Given the description of an element on the screen output the (x, y) to click on. 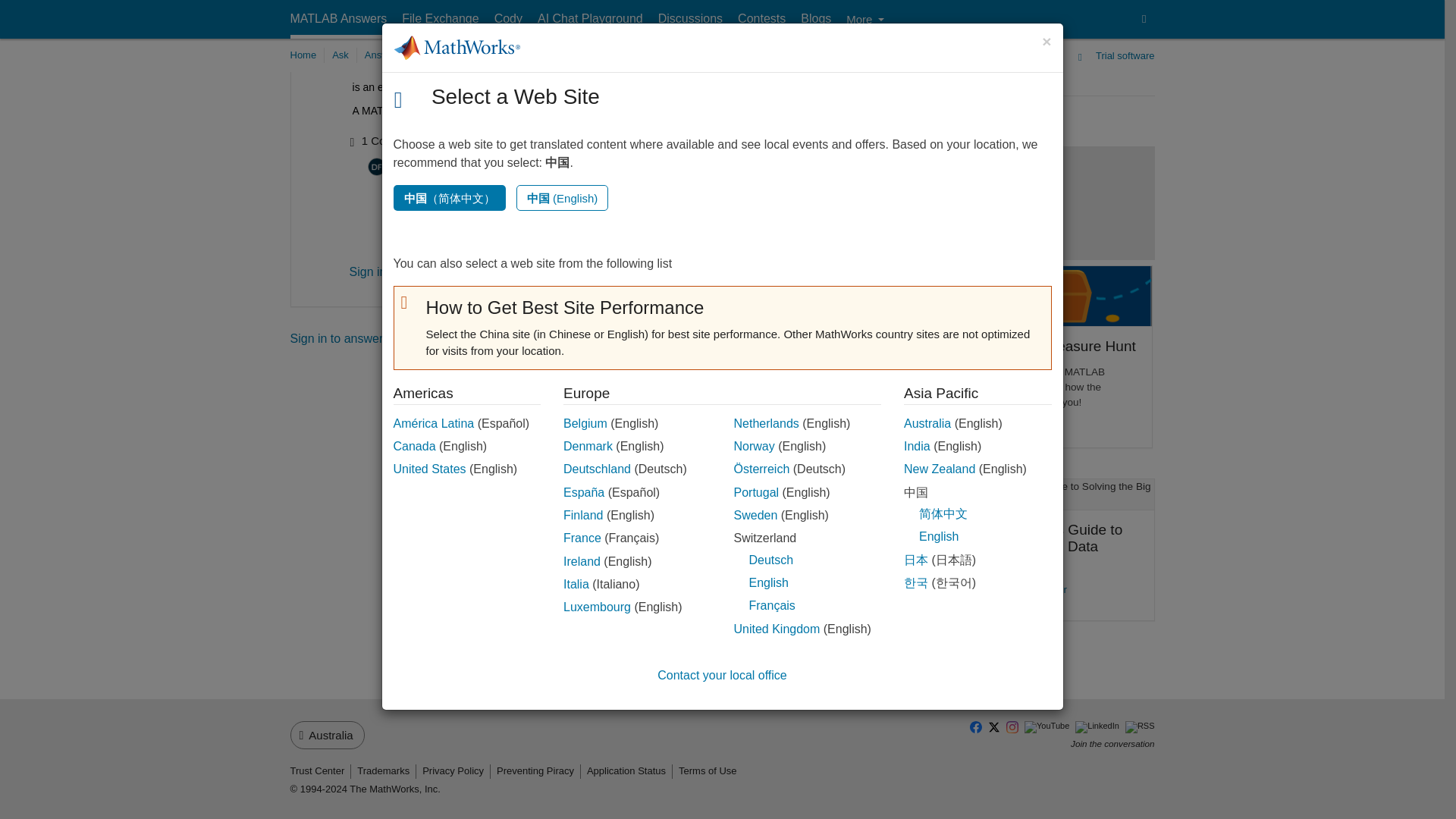
Sign in to vote for questions and answers (855, 9)
Direct link to this answer (906, 9)
